Given the description of an element on the screen output the (x, y) to click on. 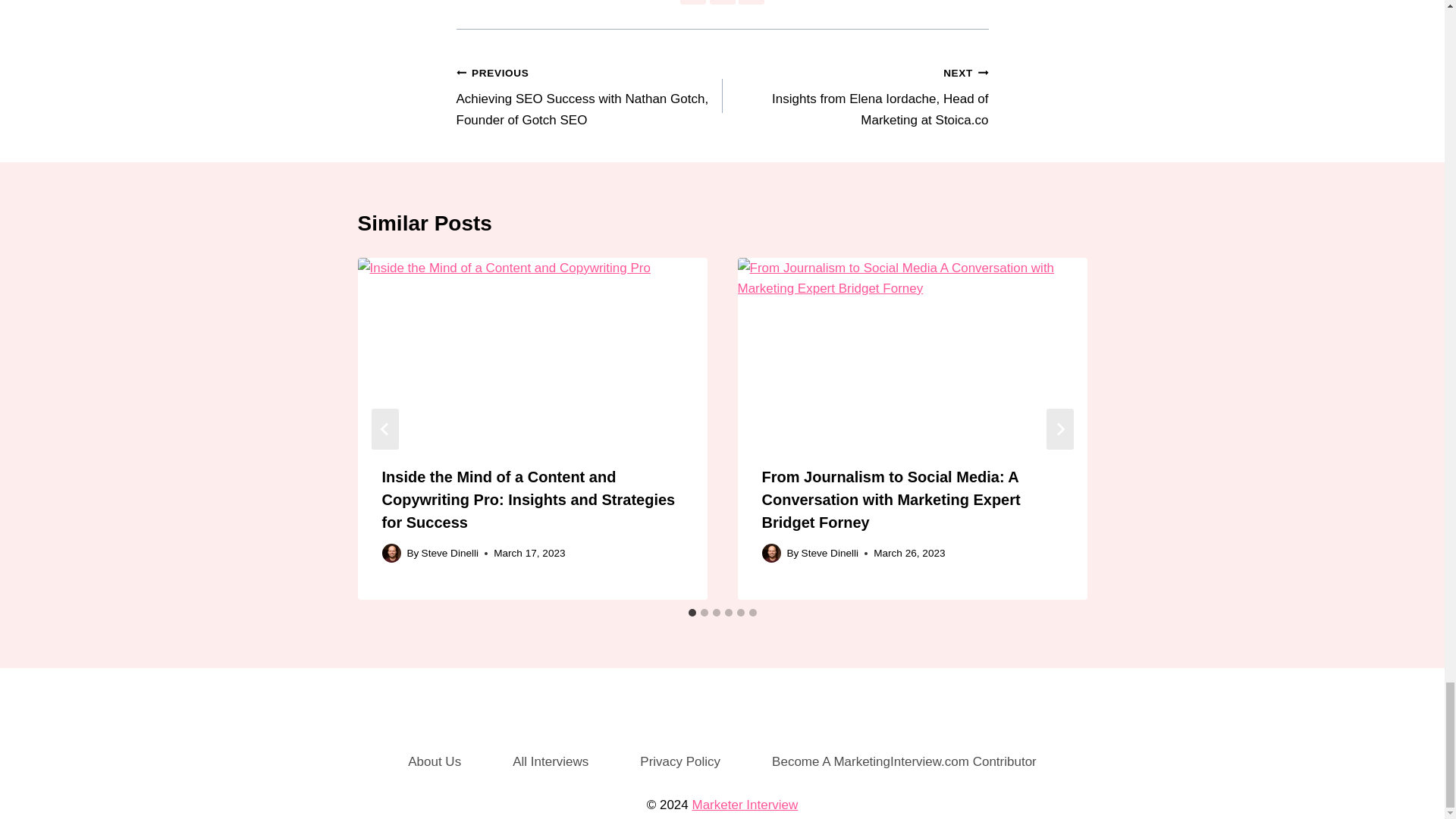
Follow Steve Dinelli on Linkedin (751, 2)
Follow Steve Dinelli on Facebook (692, 2)
Follow Steve Dinelli on X formerly Twitter (722, 2)
